Given the description of an element on the screen output the (x, y) to click on. 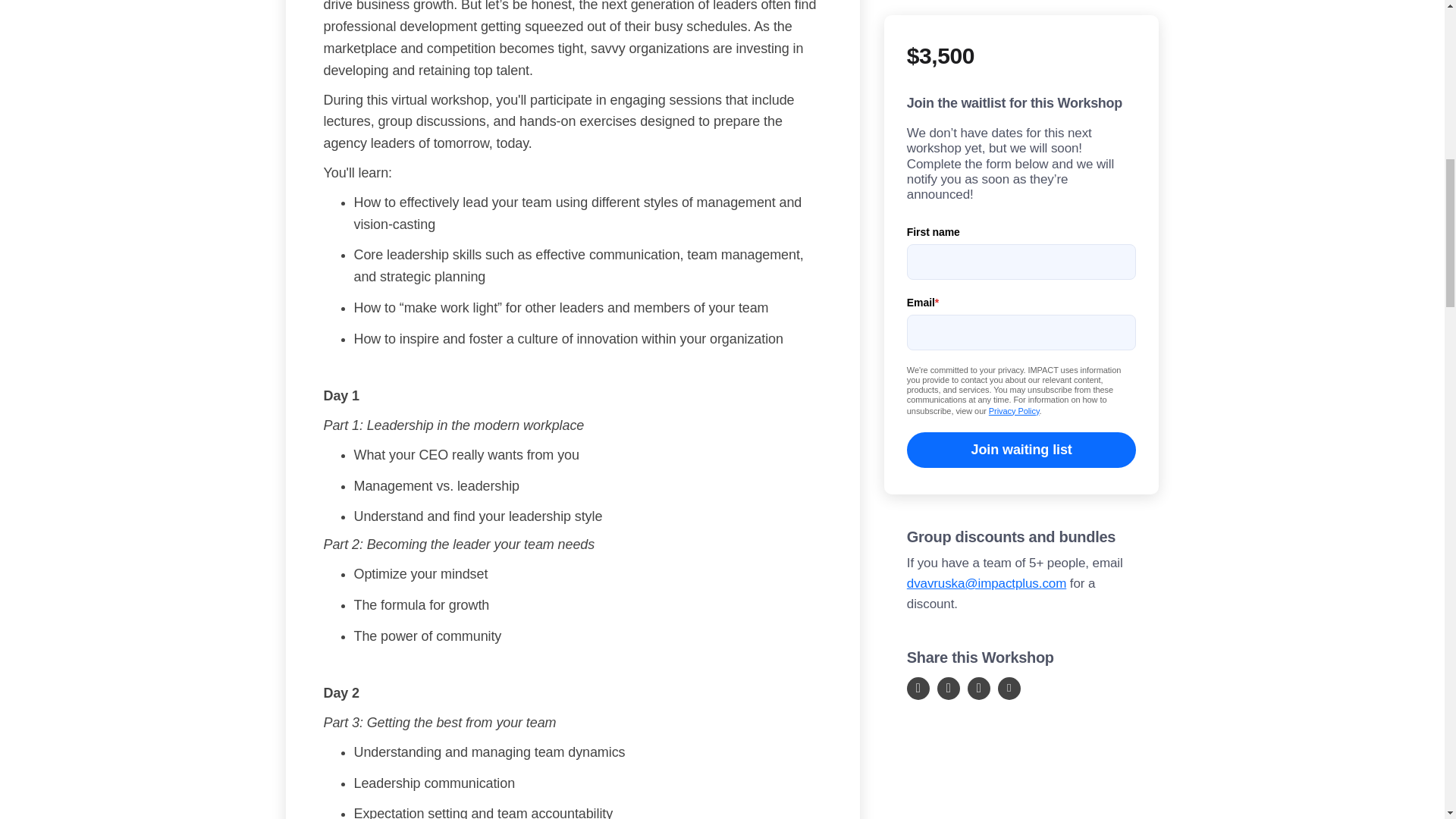
Join waiting list (1022, 324)
